Given the description of an element on the screen output the (x, y) to click on. 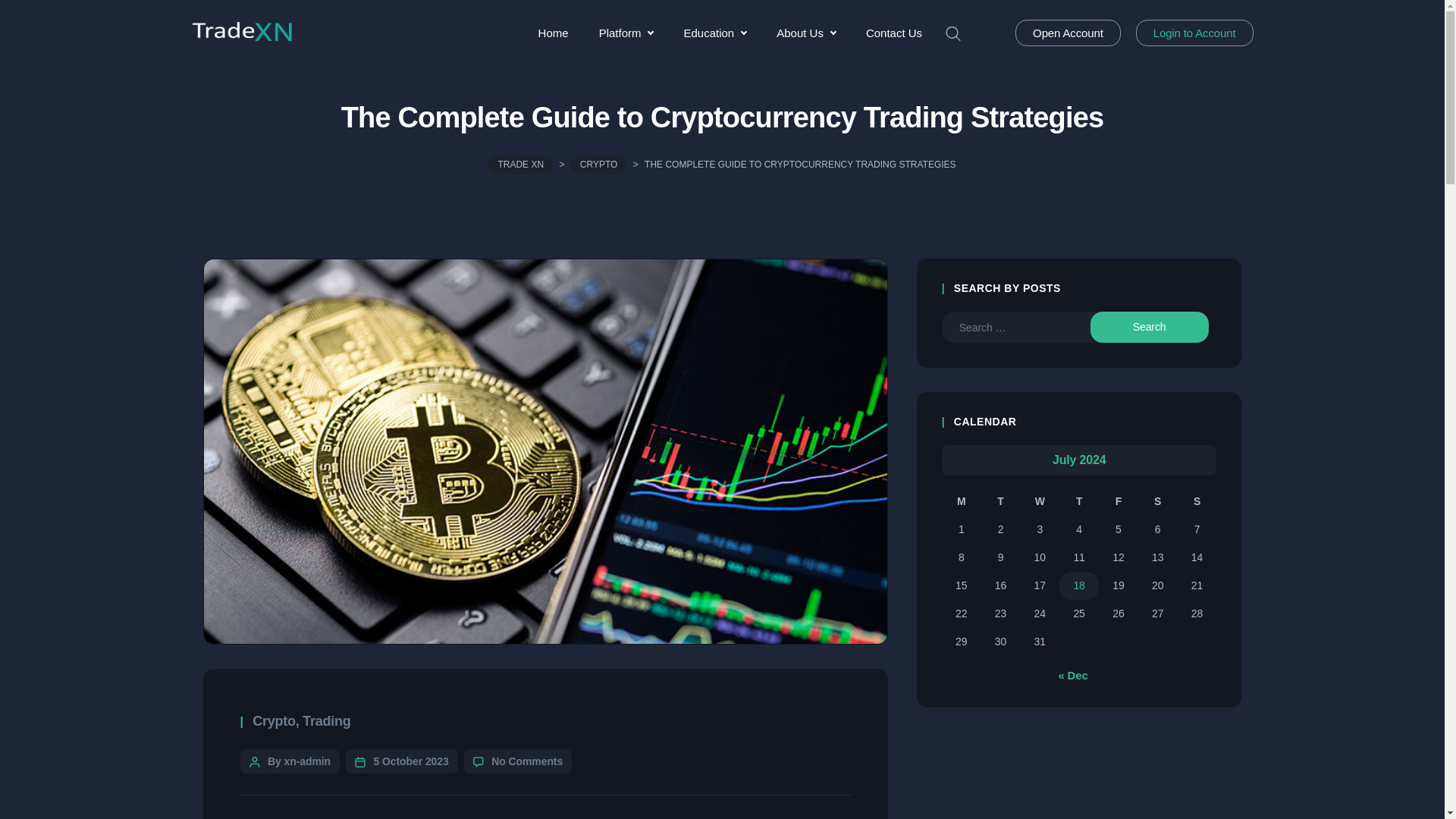
Go to Trade XN. (520, 164)
No Comments (527, 761)
Trading (326, 720)
Tuesday (1000, 501)
Go to the Crypto Category archives. (598, 164)
Search (16, 16)
Login to Account (1194, 32)
By xn-admin (298, 761)
Education (714, 32)
Sunday (1197, 501)
Open Account (1067, 32)
Home (552, 32)
About Us (805, 32)
Crypto (273, 720)
Search (1149, 327)
